Given the description of an element on the screen output the (x, y) to click on. 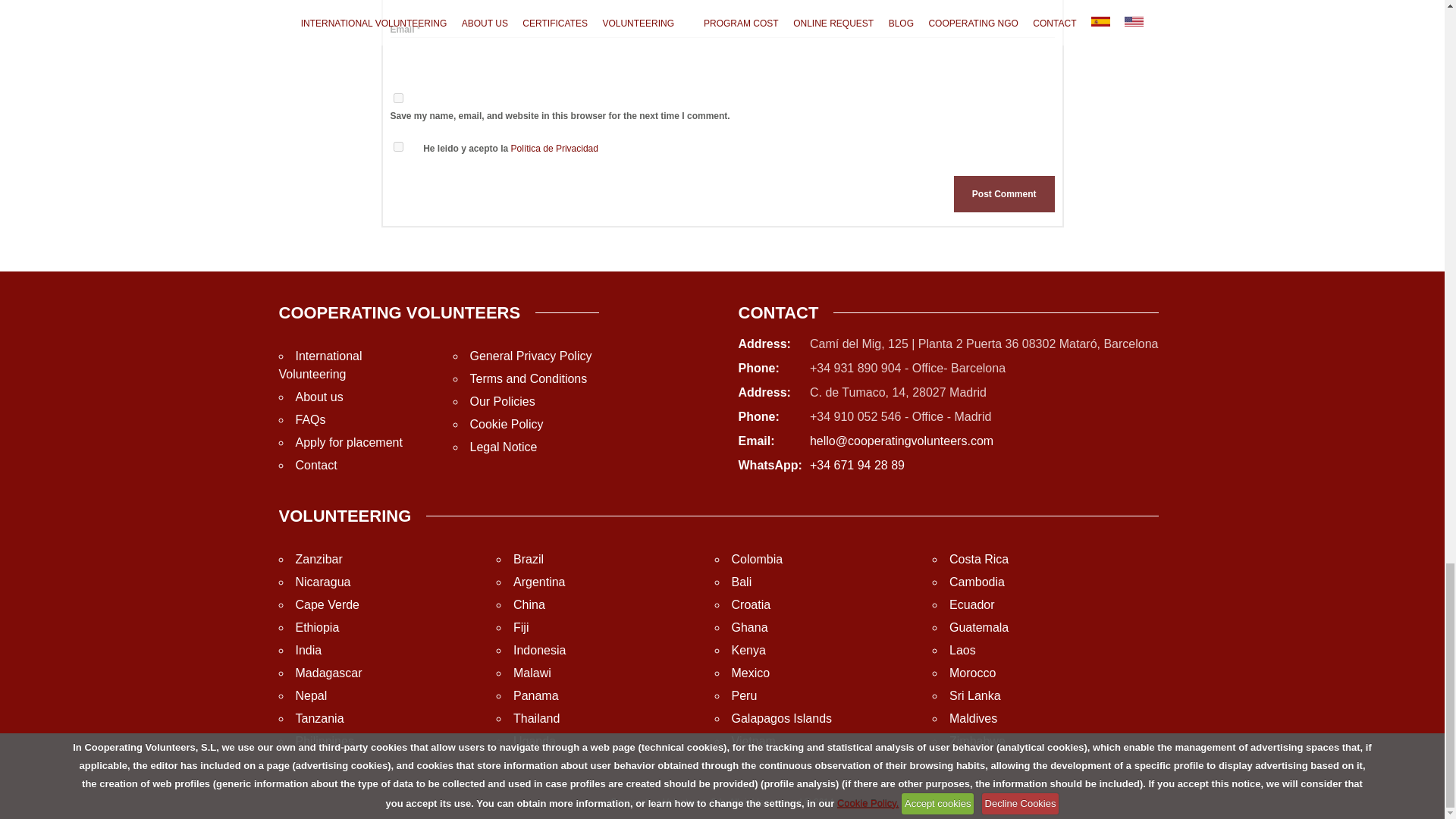
yes (398, 98)
Post Comment (1003, 194)
